Given the description of an element on the screen output the (x, y) to click on. 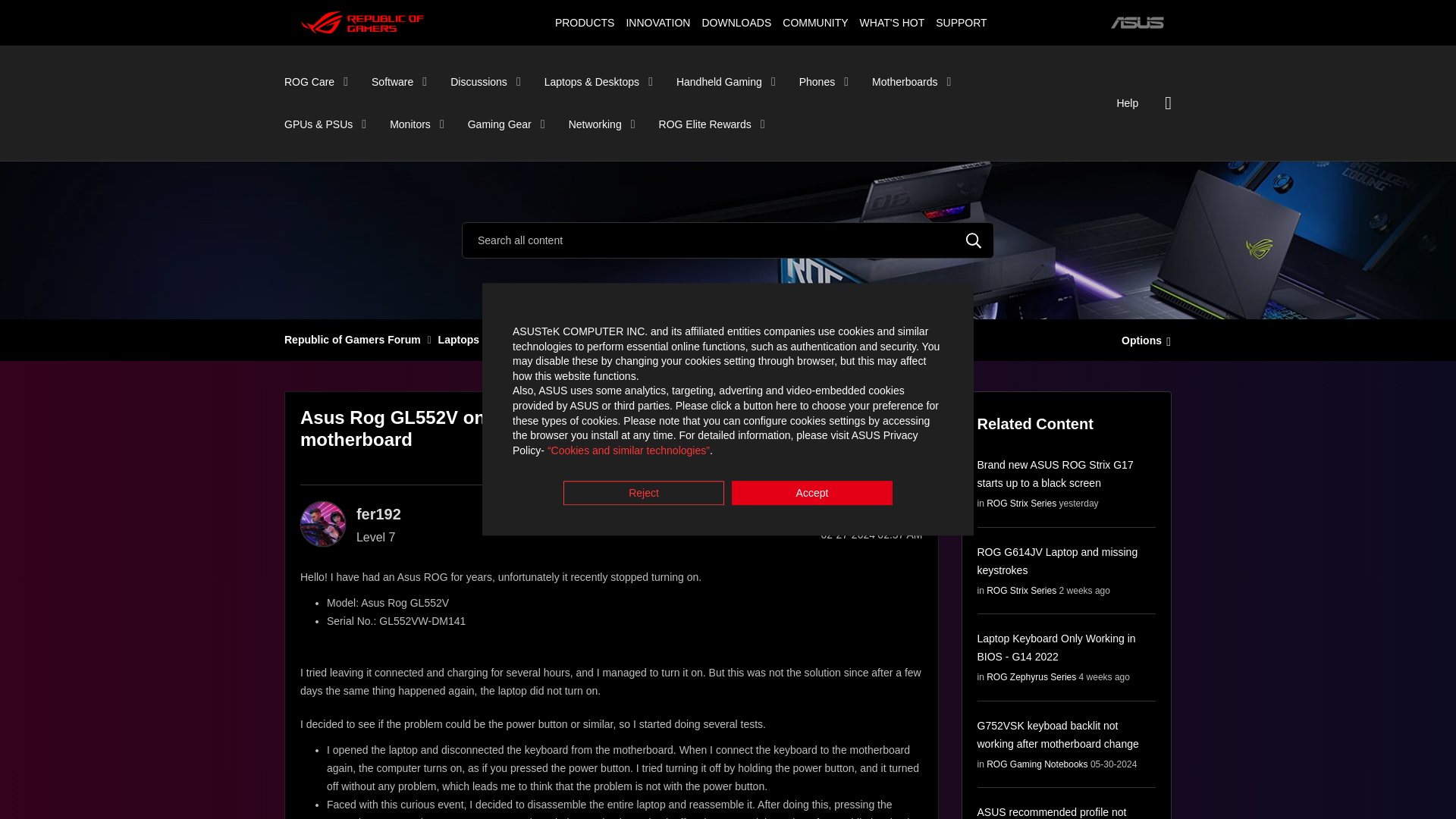
Search (727, 239)
Show option menu (913, 513)
Search (973, 239)
fer192 (322, 524)
Show option menu (1142, 339)
INNOVATION (657, 22)
Search (973, 239)
COMMUNITY (815, 22)
PRODUCTS (584, 22)
DOWNLOADS (736, 22)
